Given the description of an element on the screen output the (x, y) to click on. 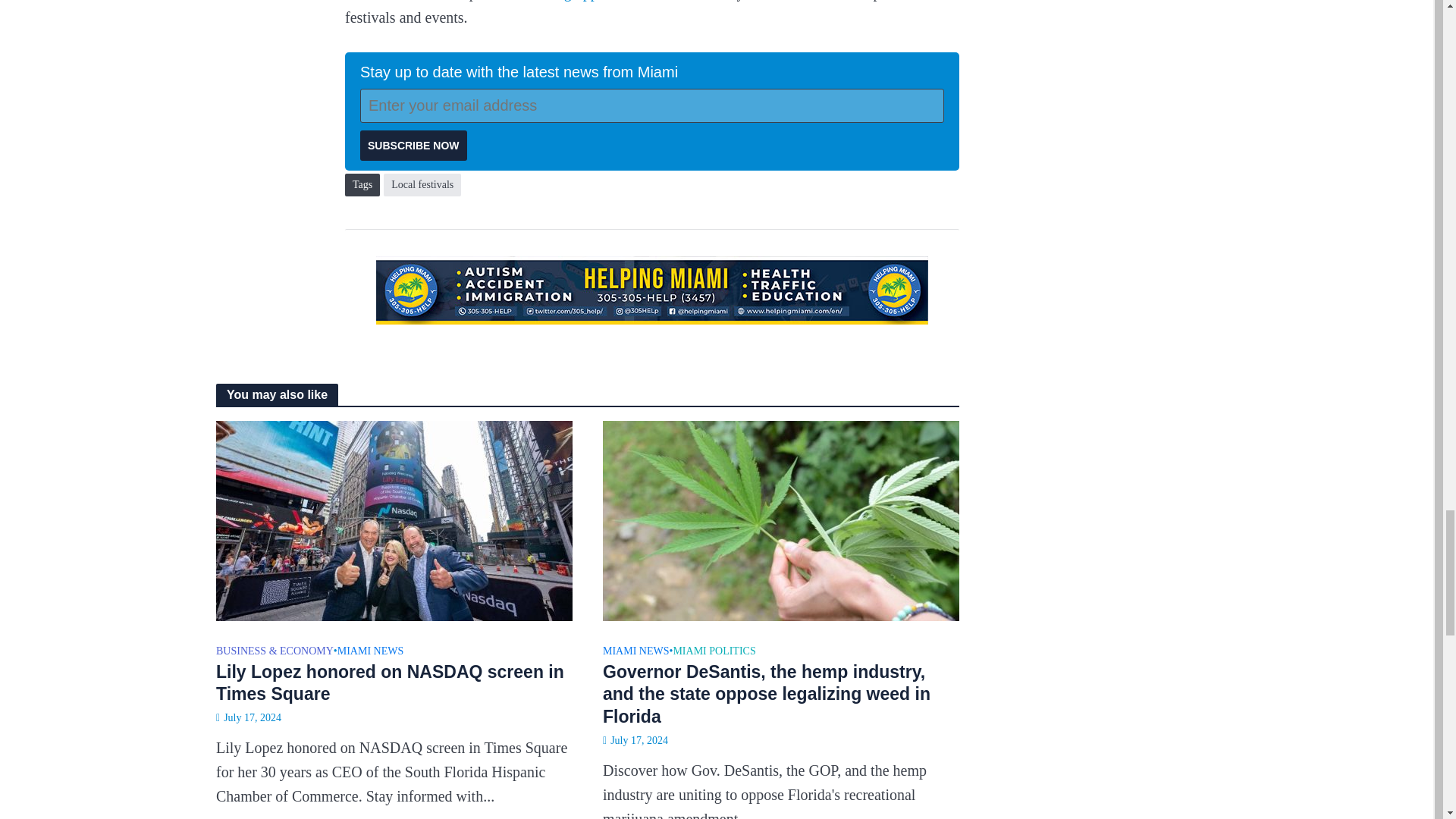
Subscribe Now (413, 145)
